Given the description of an element on the screen output the (x, y) to click on. 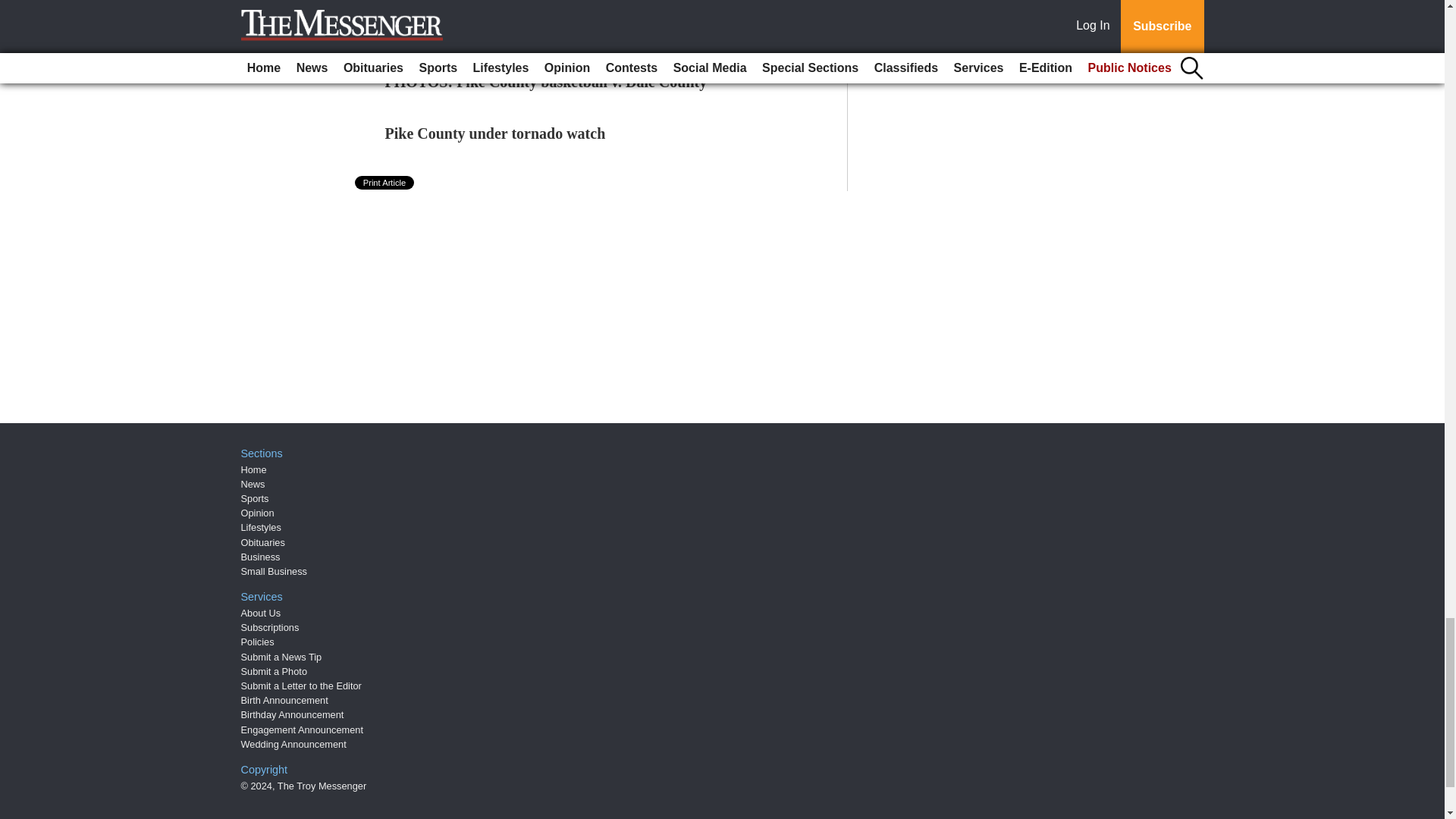
Pike County under tornado watch (495, 133)
Photos: Troy football spring practice (504, 30)
PHOTOS: Pike County basketball v. Dale County (546, 81)
